Given the description of an element on the screen output the (x, y) to click on. 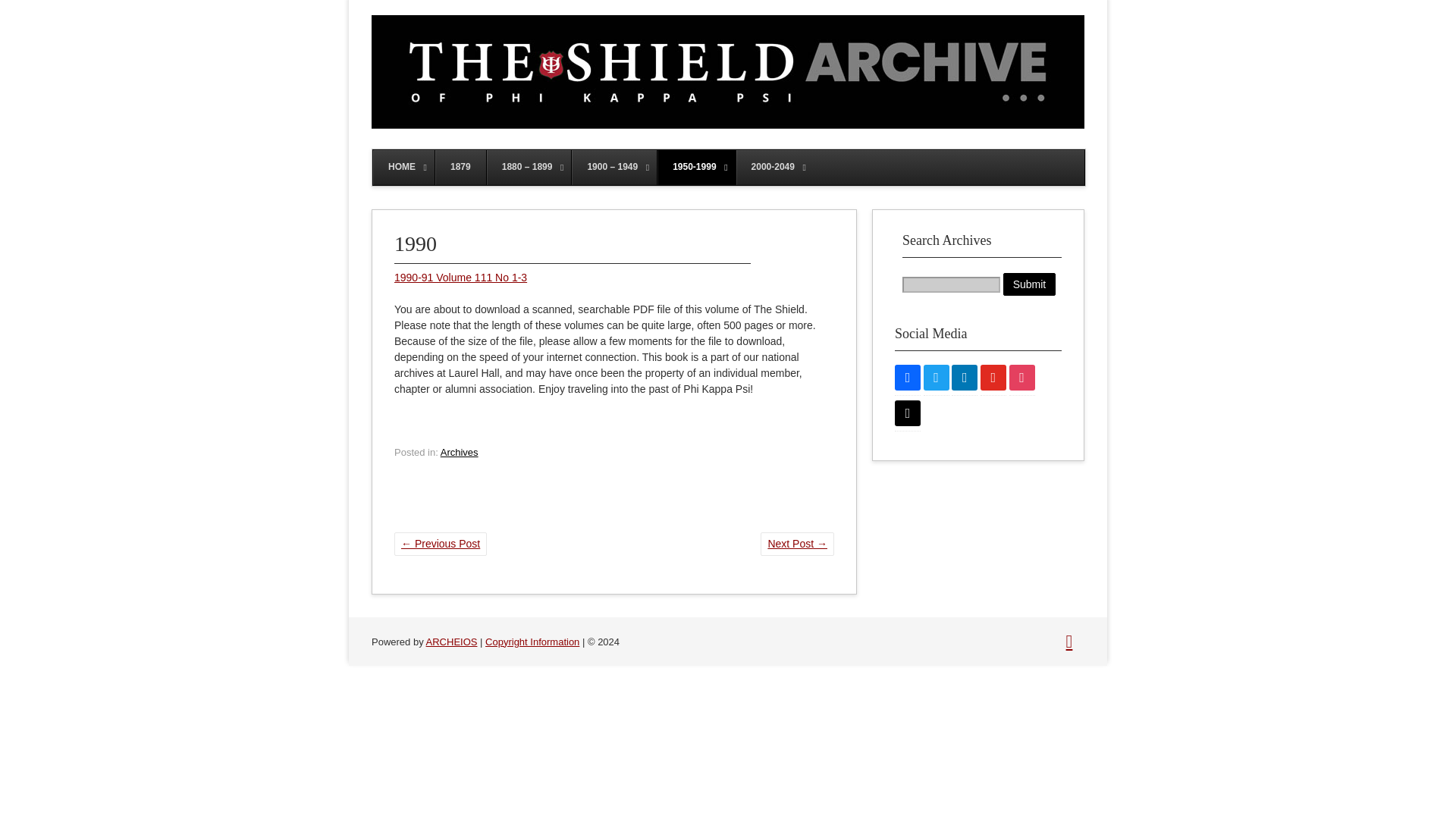
HOME (402, 167)
Submit (1030, 283)
To Top (1069, 641)
Friend me on Facebook (907, 376)
Phi Kappa Psi Archive (727, 124)
1879 (459, 167)
Follow Me (936, 376)
1990-91 Volume 111 No 1-3 (460, 277)
